Given the description of an element on the screen output the (x, y) to click on. 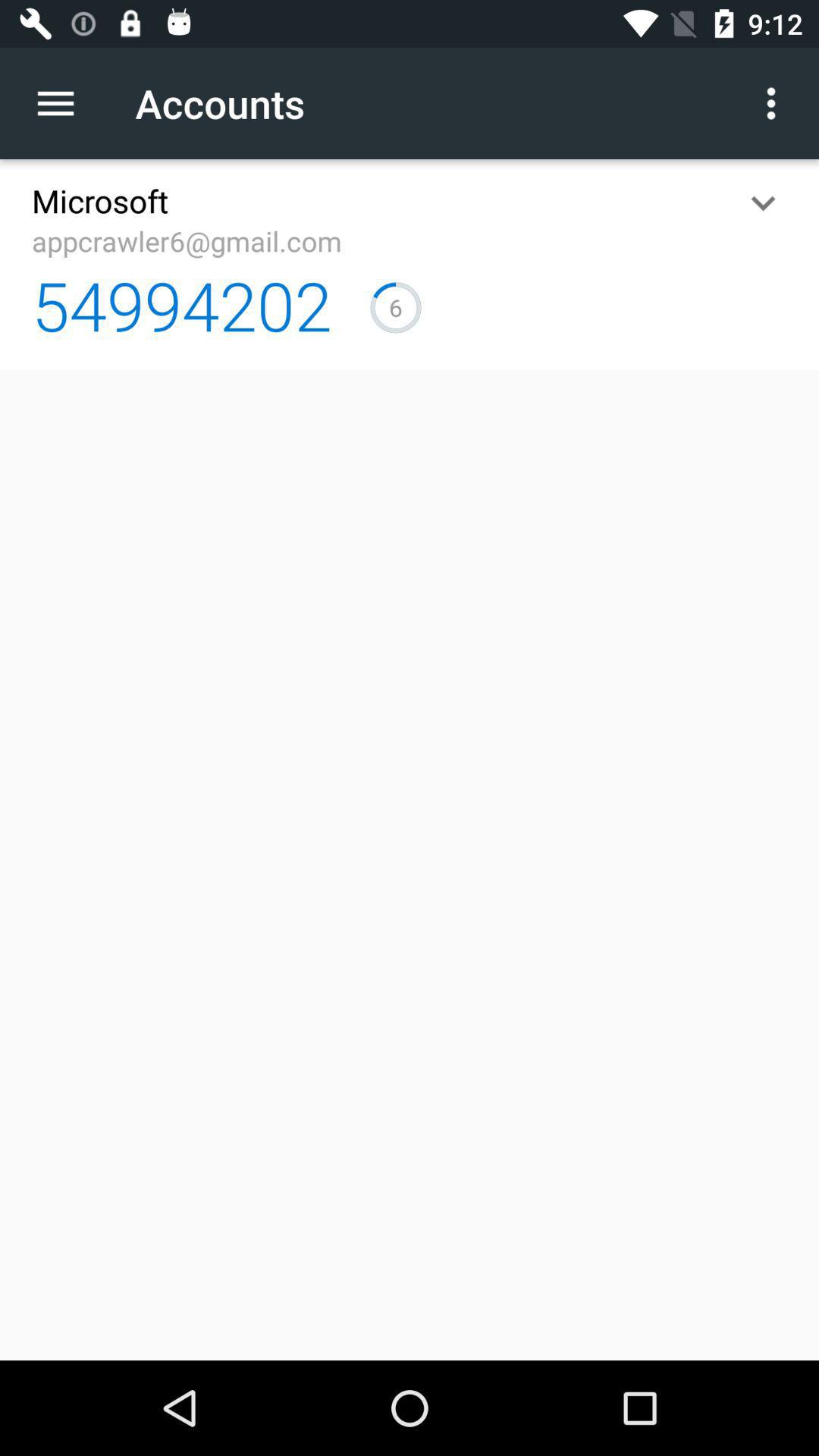
click the item above microsoft icon (63, 103)
